Given the description of an element on the screen output the (x, y) to click on. 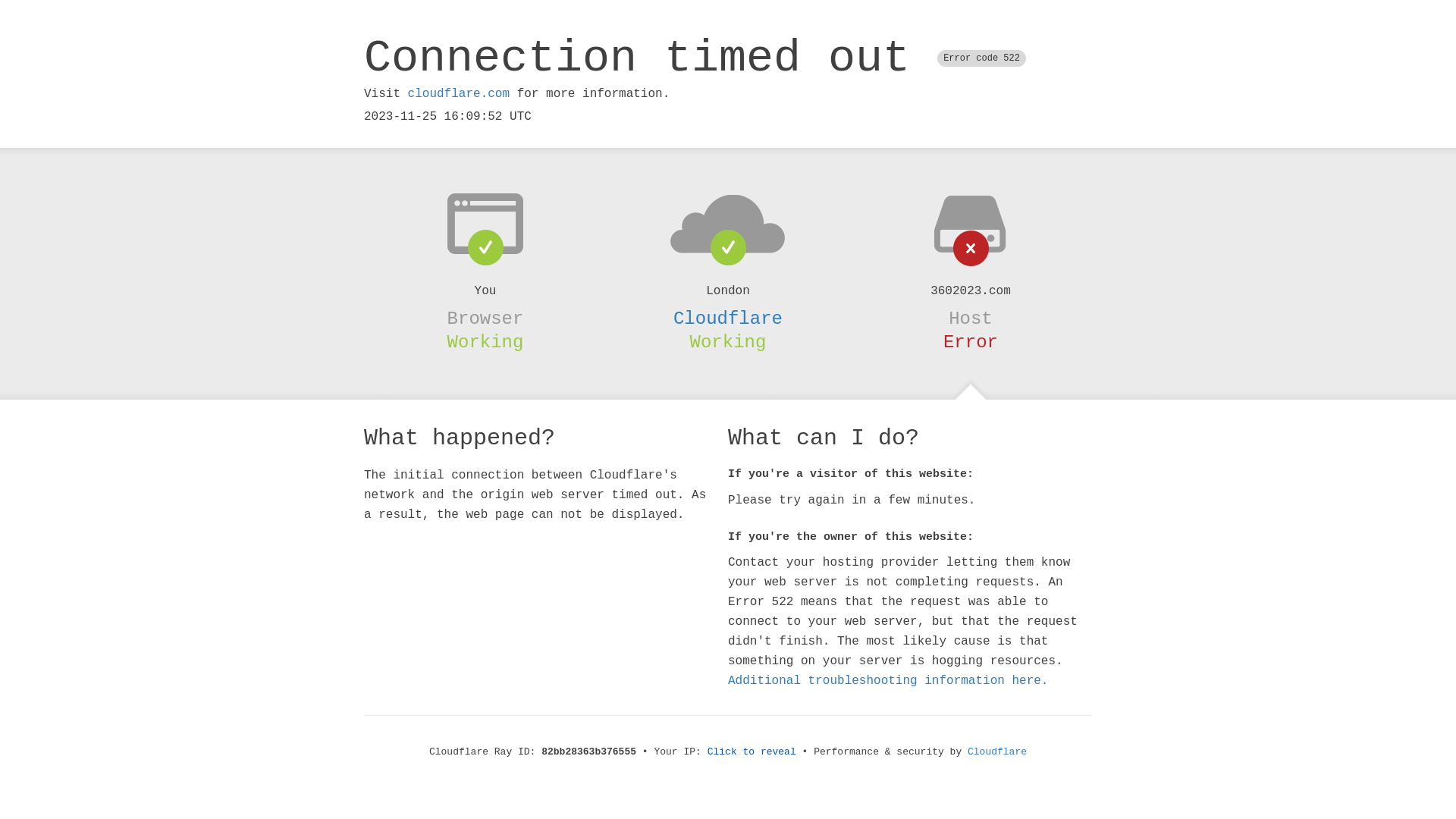
Click to reveal Element type: text (751, 751)
cloudflare.com Element type: text (458, 93)
Additional troubleshooting information here. Element type: text (888, 680)
Cloudflare Element type: text (996, 751)
Cloudflare Element type: text (727, 318)
